Given the description of an element on the screen output the (x, y) to click on. 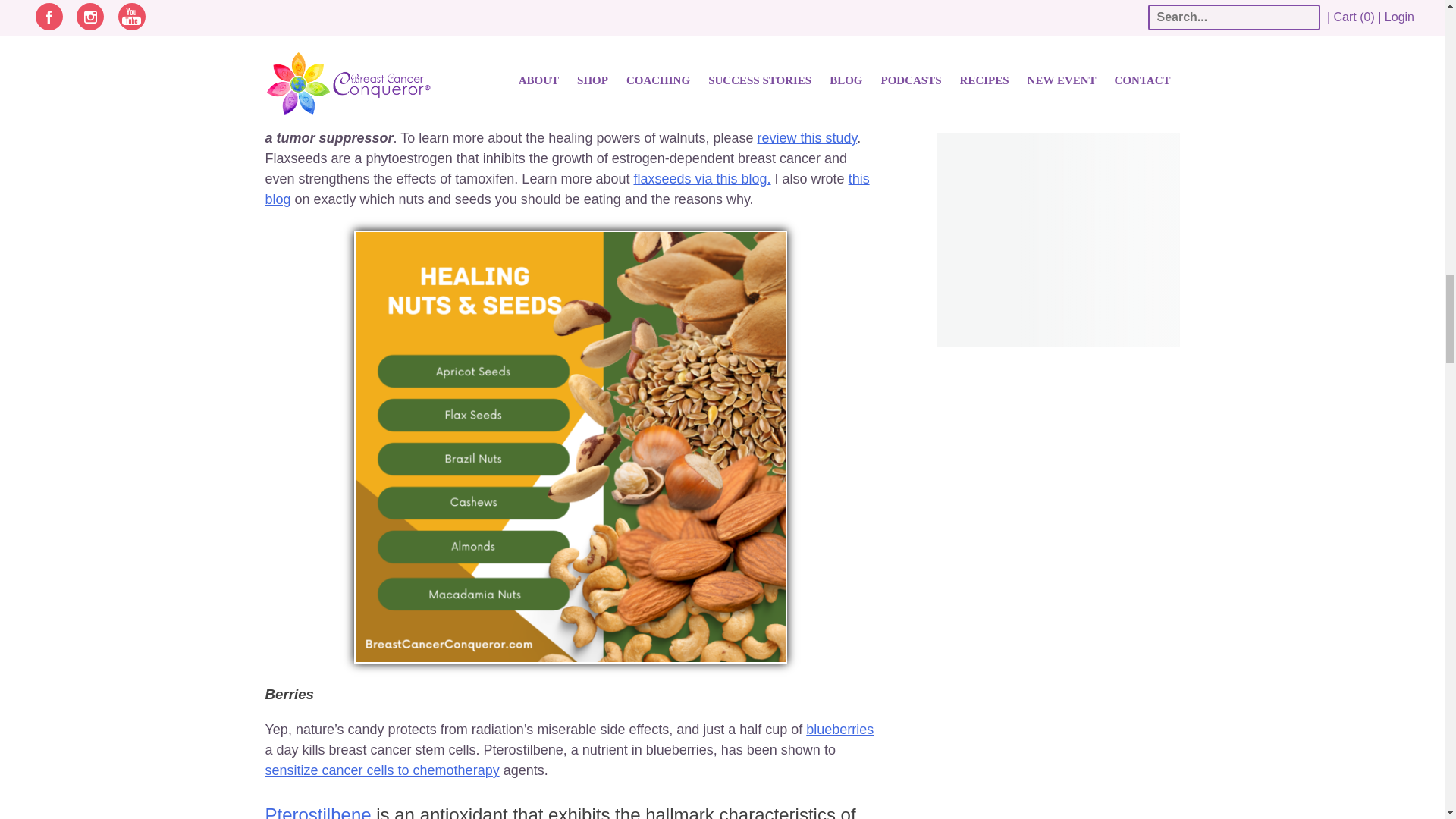
aromatase inhibitors (633, 3)
blueberries (839, 729)
this blog (566, 189)
flaxseeds via this blog. (701, 178)
review this study (807, 137)
sensitize cancer cells to chemotherapy (381, 770)
